Given the description of an element on the screen output the (x, y) to click on. 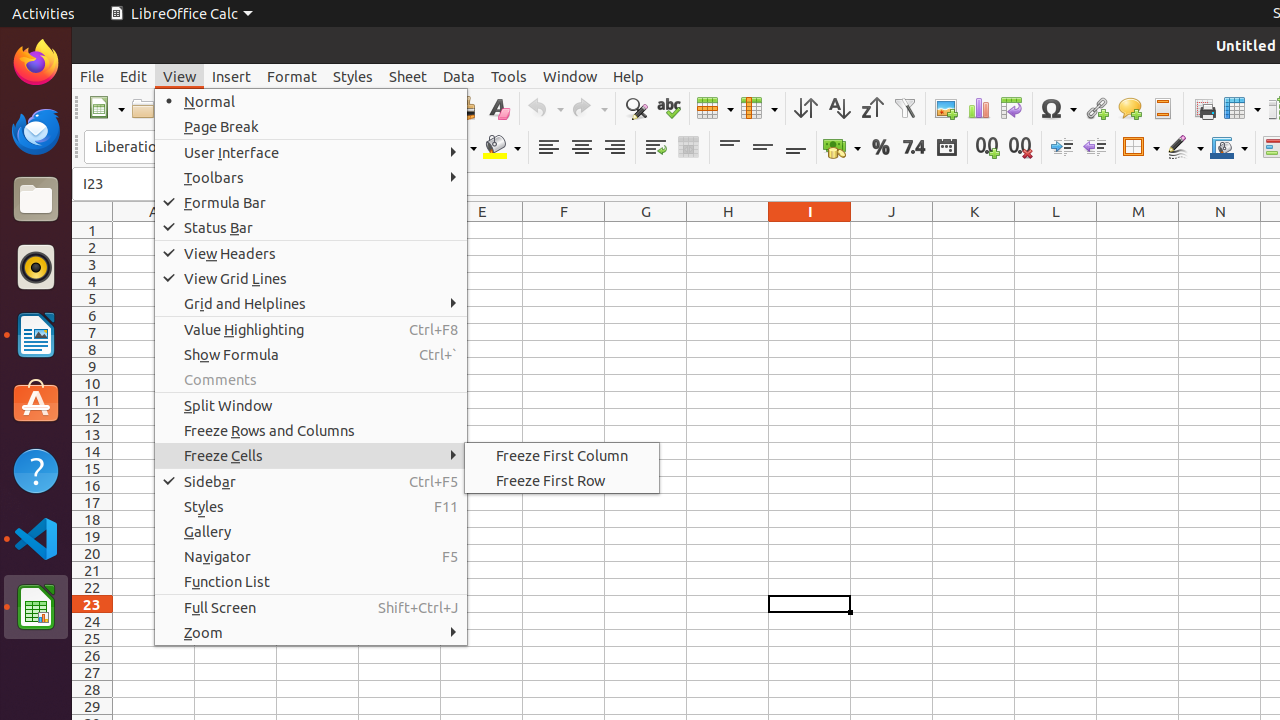
Normal Element type: radio-menu-item (311, 101)
Data Element type: menu (459, 76)
Split Window Element type: check-menu-item (311, 405)
Freeze First Column Element type: menu-item (562, 455)
